Given the description of an element on the screen output the (x, y) to click on. 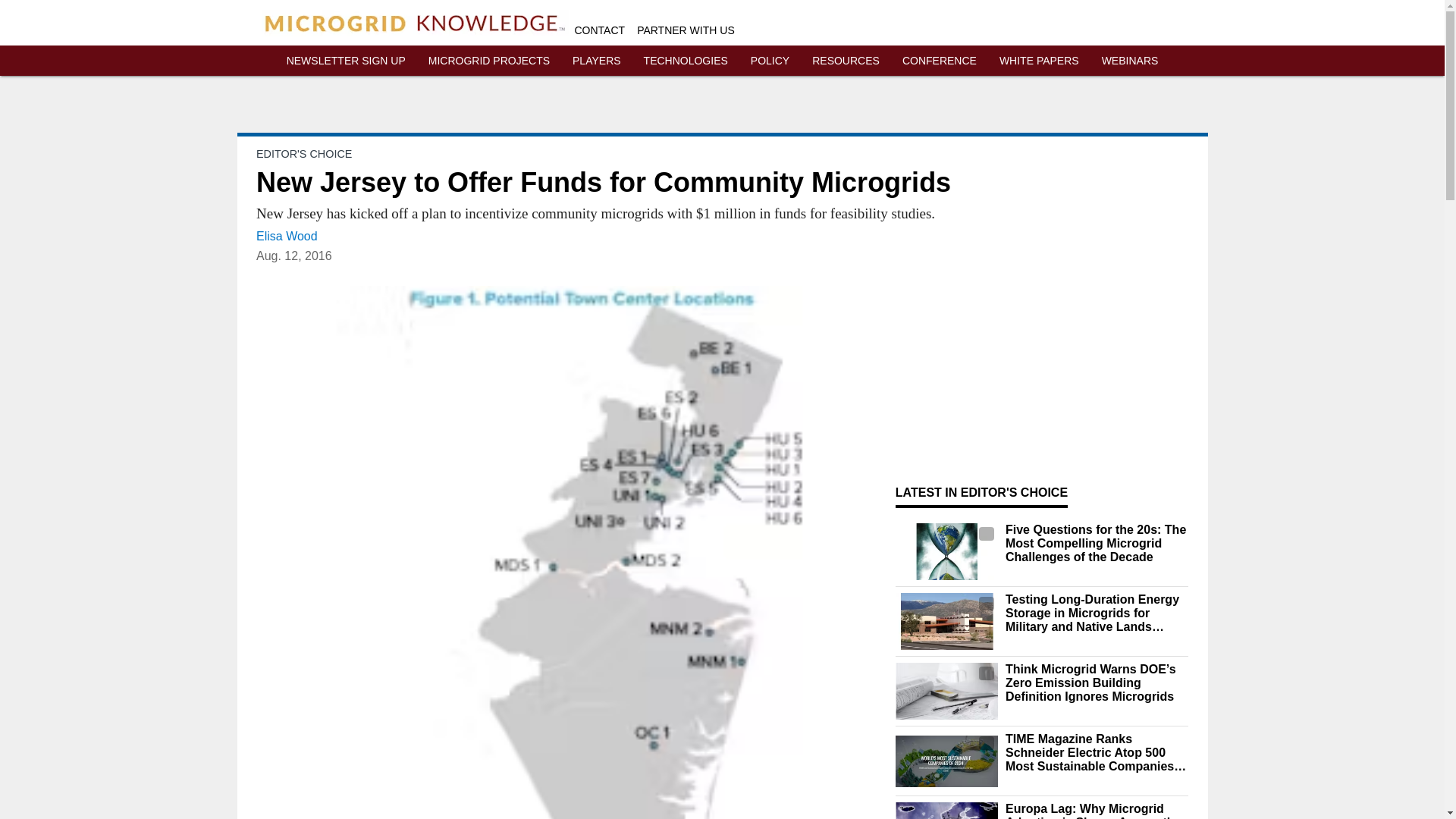
WEBINARS (1130, 60)
PLAYERS (596, 60)
LATEST IN EDITOR'S CHOICE (981, 492)
EDITOR'S CHOICE (304, 153)
WHITE PAPERS (1038, 60)
Elisa Wood (286, 236)
NEWSLETTER SIGN UP (346, 60)
TECHNOLOGIES (685, 60)
PARTNER WITH US (686, 30)
CONFERENCE (939, 60)
Europa Lag: Why Microgrid Adoption is Slower Across the Pond (1097, 810)
RESOURCES (845, 60)
